Given the description of an element on the screen output the (x, y) to click on. 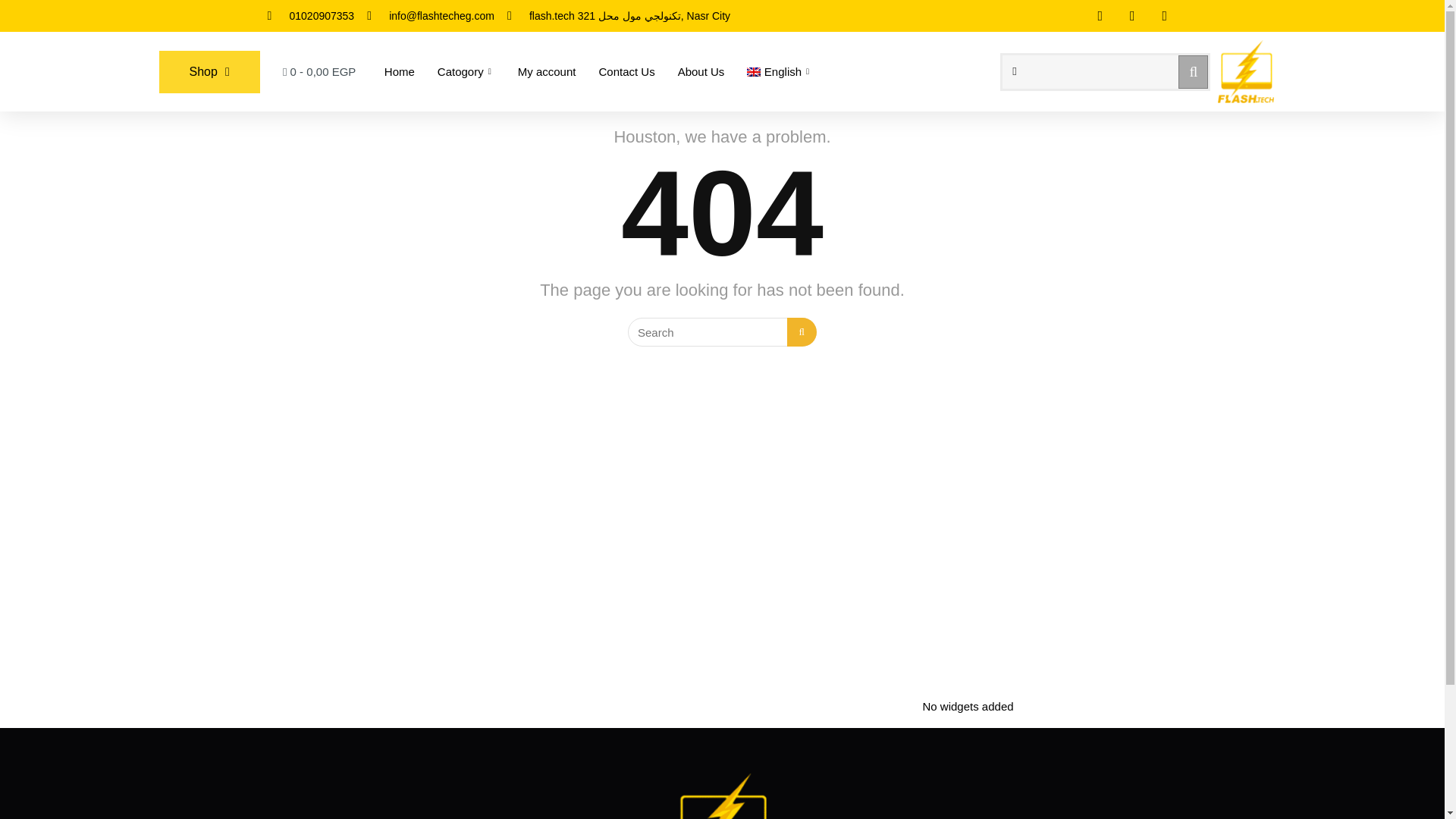
Catogory (466, 70)
My account (547, 70)
Contact Us (625, 70)
English (779, 70)
About Us (701, 70)
Shop (209, 70)
